Given the description of an element on the screen output the (x, y) to click on. 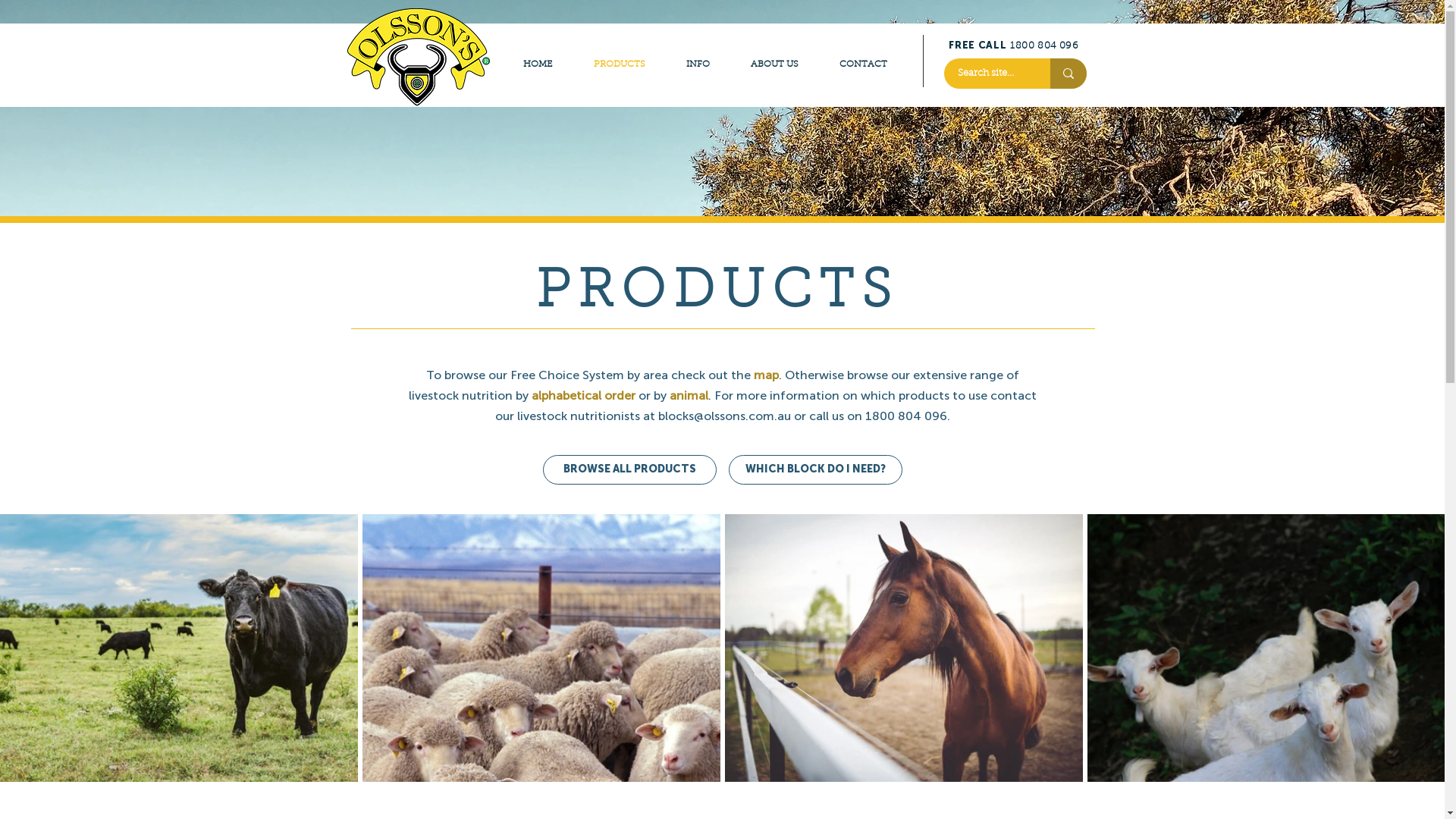
blocks@olssons.com.au Element type: text (724, 415)
map Element type: text (765, 374)
BROWSE ALL PRODUCTS Element type: text (629, 469)
ABOUT US Element type: text (773, 64)
alphabetical order Element type: text (582, 395)
PRODUCTS Element type: text (619, 64)
INFO Element type: text (697, 64)
animal Element type: text (687, 395)
WHICH BLOCK DO I NEED? Element type: text (814, 469)
HOME Element type: text (537, 64)
CONTACT Element type: text (863, 64)
